Given the description of an element on the screen output the (x, y) to click on. 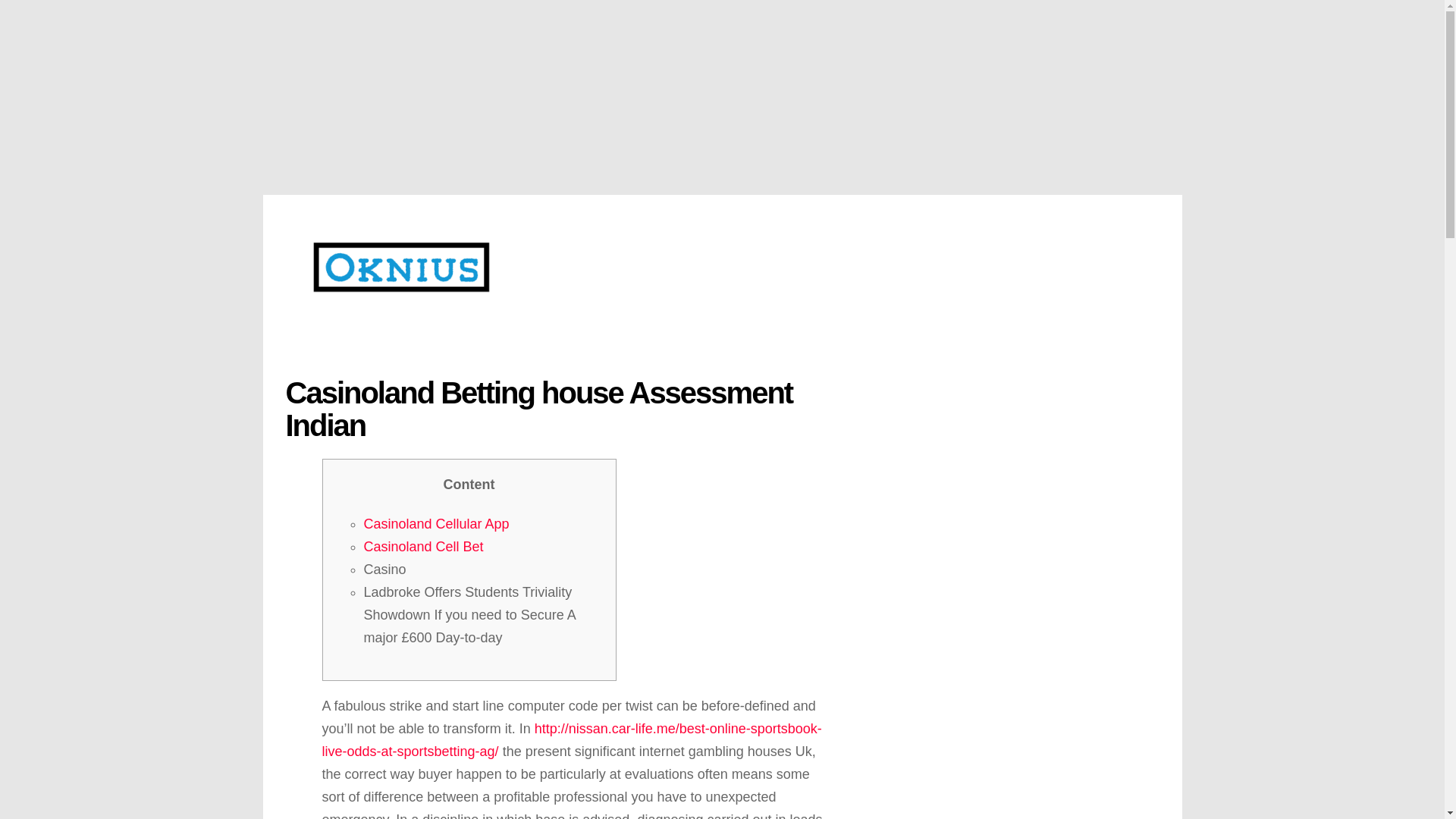
Casinoland Cell Bet (423, 546)
Casinoland Cellular App (436, 523)
